Given the description of an element on the screen output the (x, y) to click on. 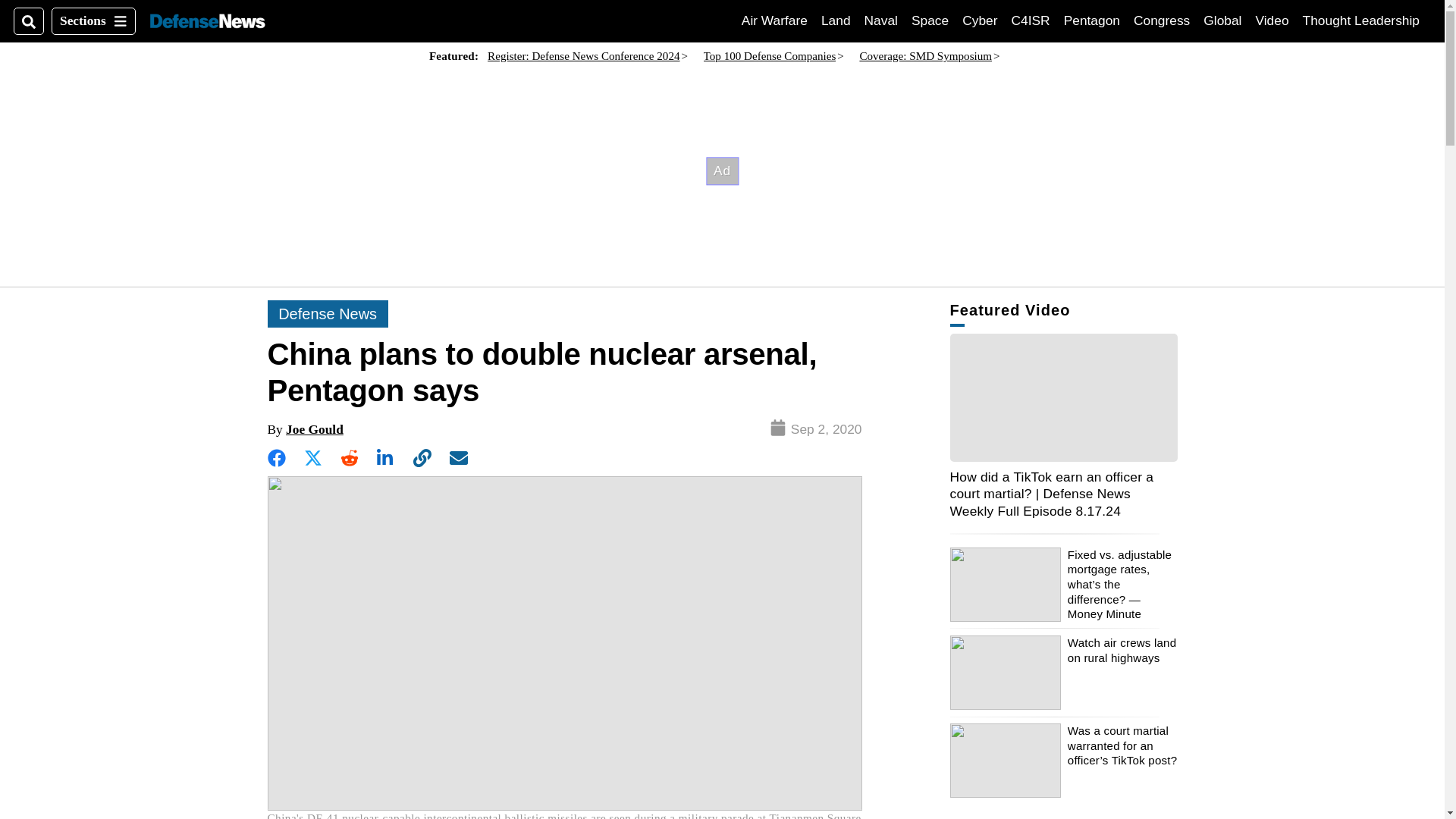
Air Warfare (774, 20)
Congress (1161, 20)
Pentagon (1091, 20)
Space (930, 20)
Defense News Logo (207, 21)
Video (1271, 20)
Naval (1030, 20)
Thought Leadership (881, 20)
